Given the description of an element on the screen output the (x, y) to click on. 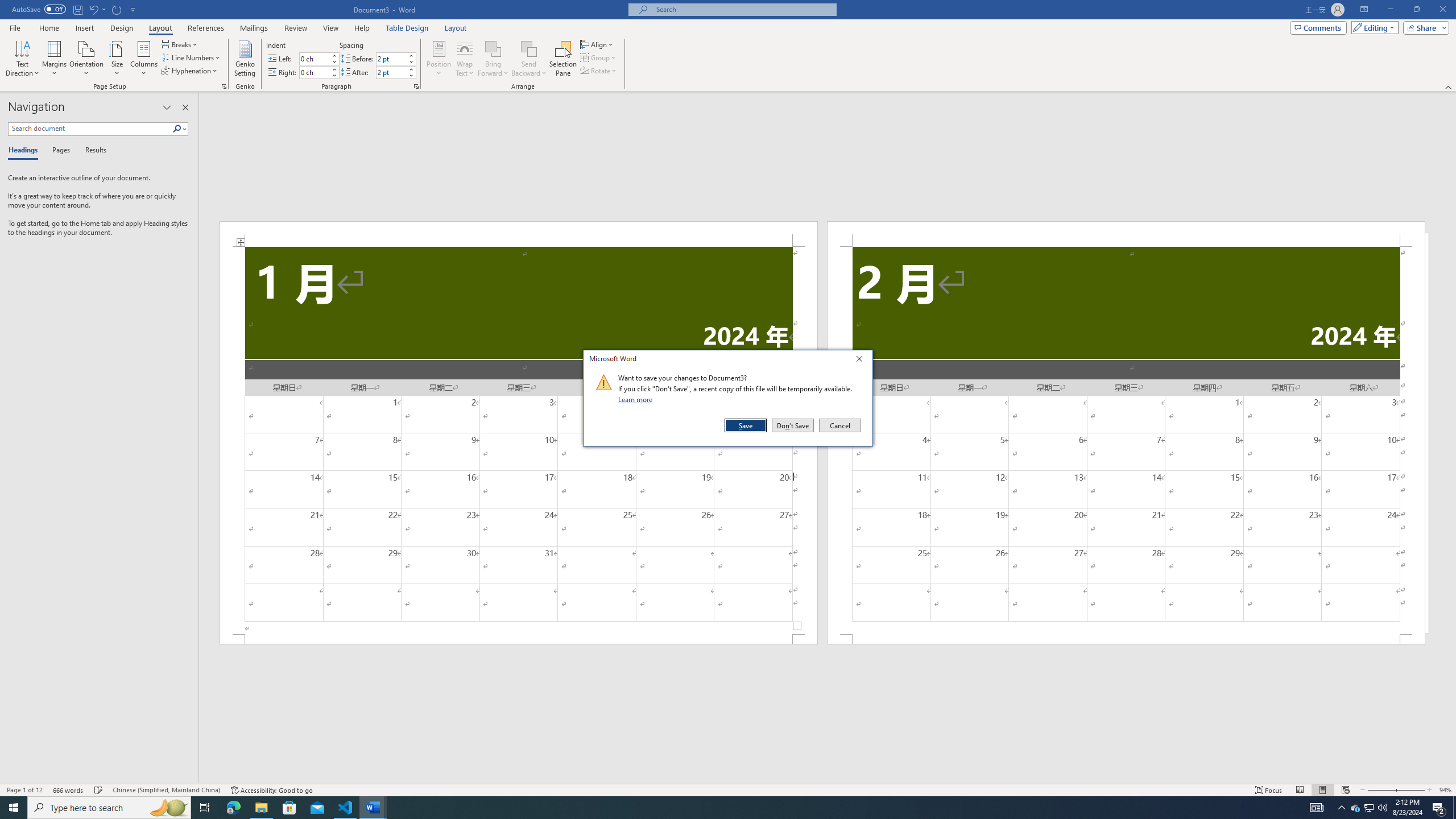
Bring Forward (492, 48)
Learn more (636, 399)
